Given the description of an element on the screen output the (x, y) to click on. 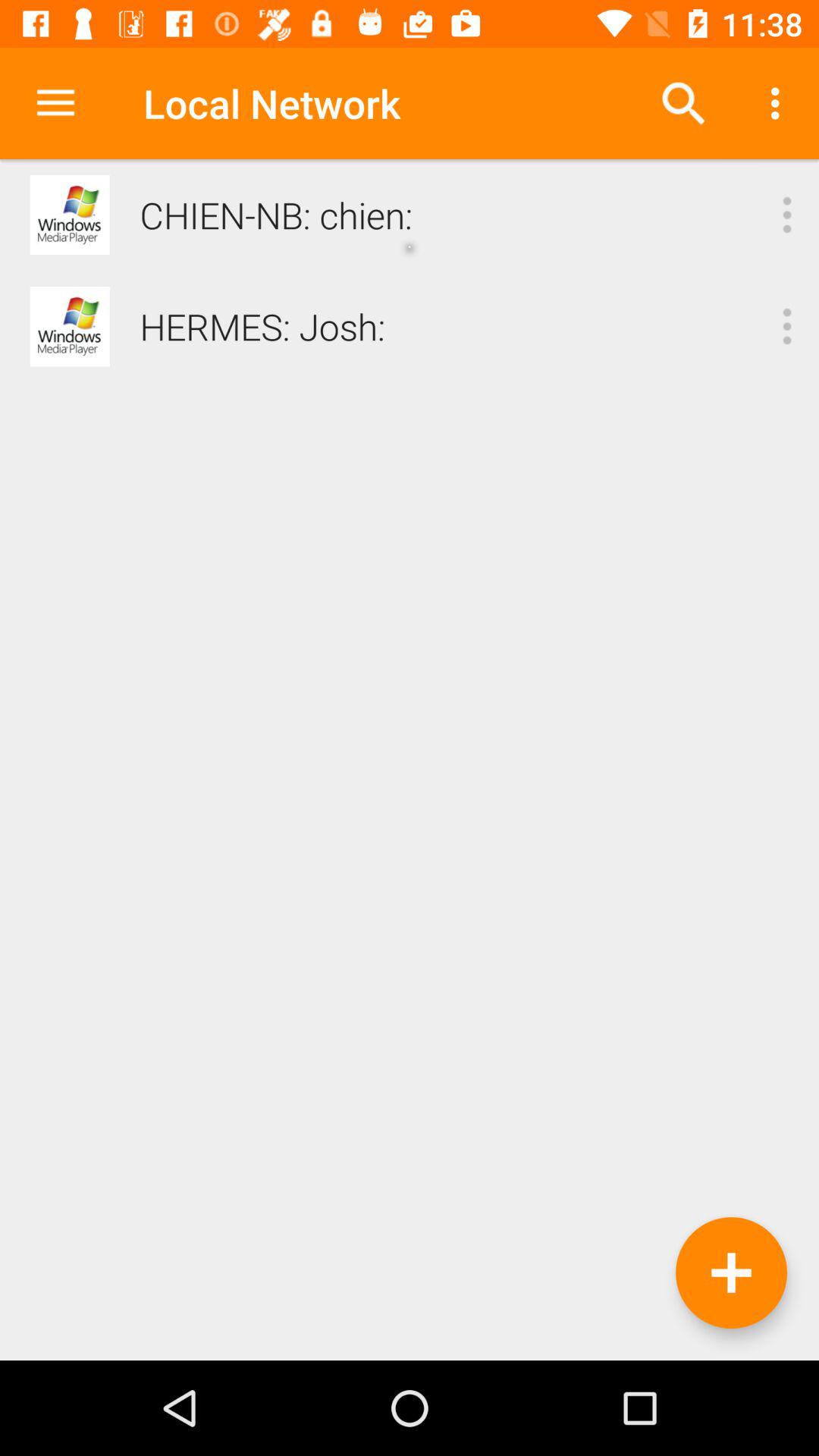
click the icon next to the local network item (683, 103)
